Given the description of an element on the screen output the (x, y) to click on. 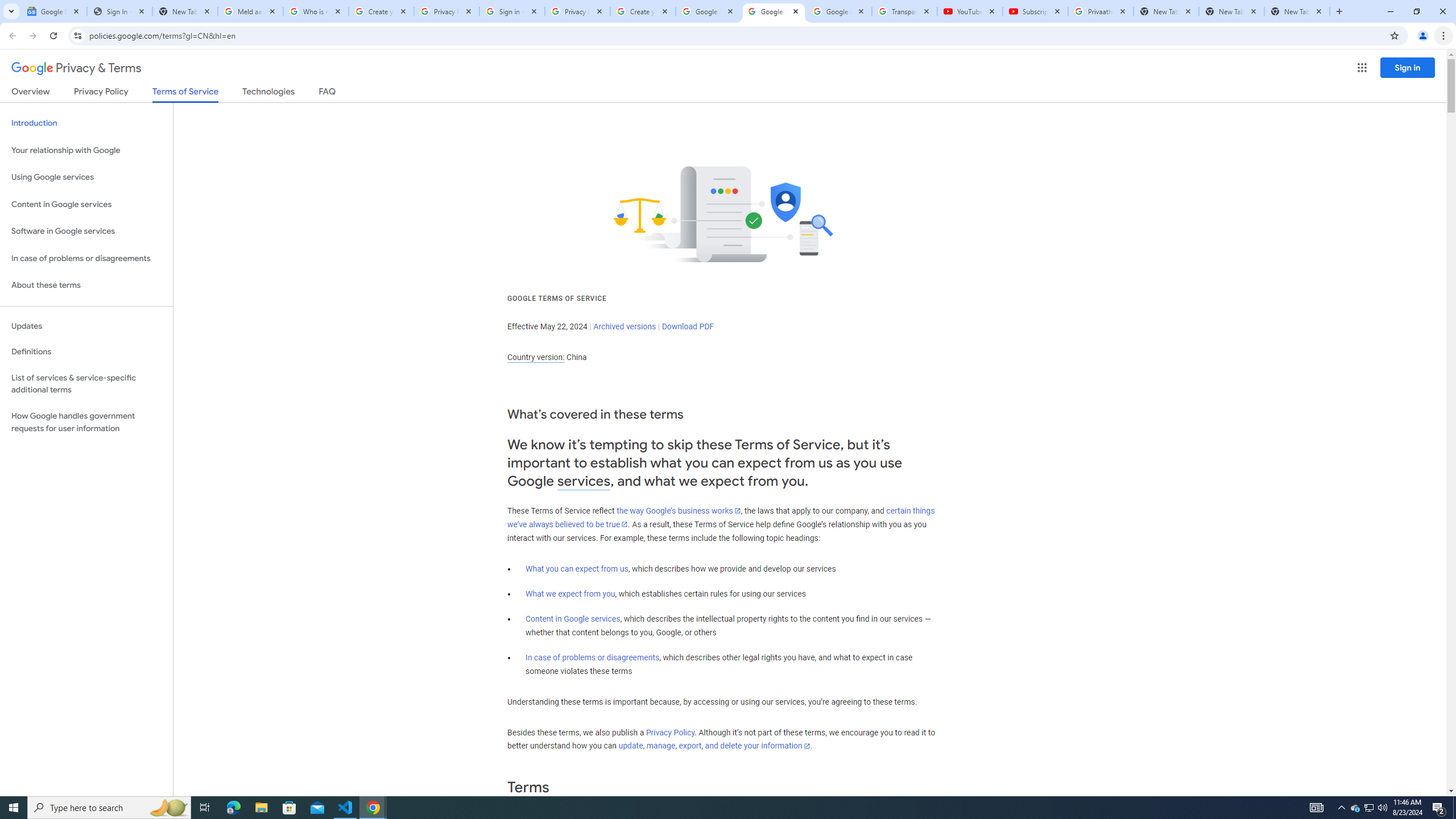
Google News (53, 11)
Create your Google Account (643, 11)
YouTube (969, 11)
Who is my administrator? - Google Account Help (315, 11)
About these terms (86, 284)
Using Google services (86, 176)
